Given the description of an element on the screen output the (x, y) to click on. 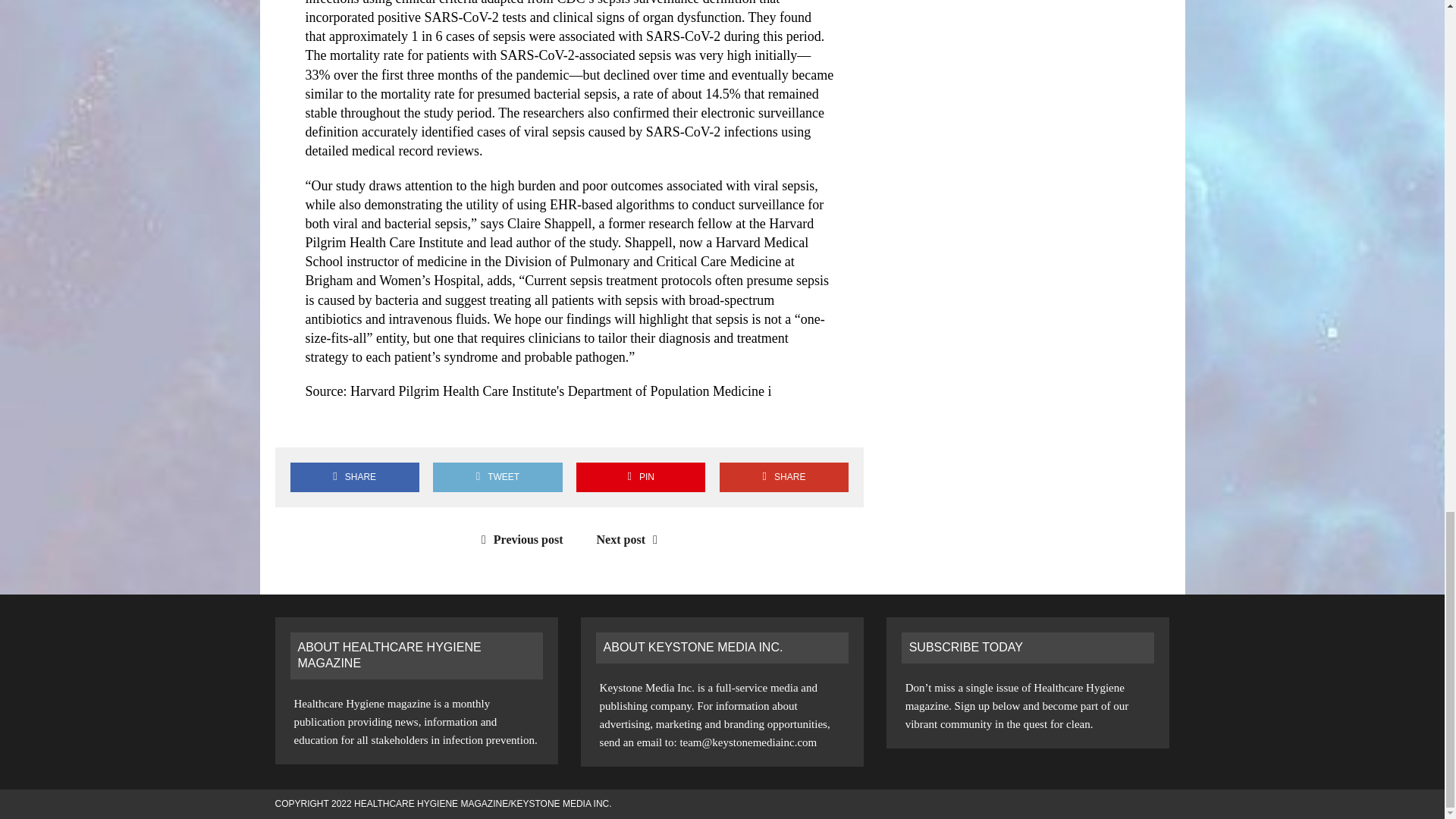
SHARE (783, 477)
Tweet This Post (497, 477)
Pin This Post (640, 477)
Next post (630, 539)
Previous post (518, 539)
PIN (640, 477)
TWEET (497, 477)
Share on Facebook (354, 477)
SHARE (354, 477)
